Given the description of an element on the screen output the (x, y) to click on. 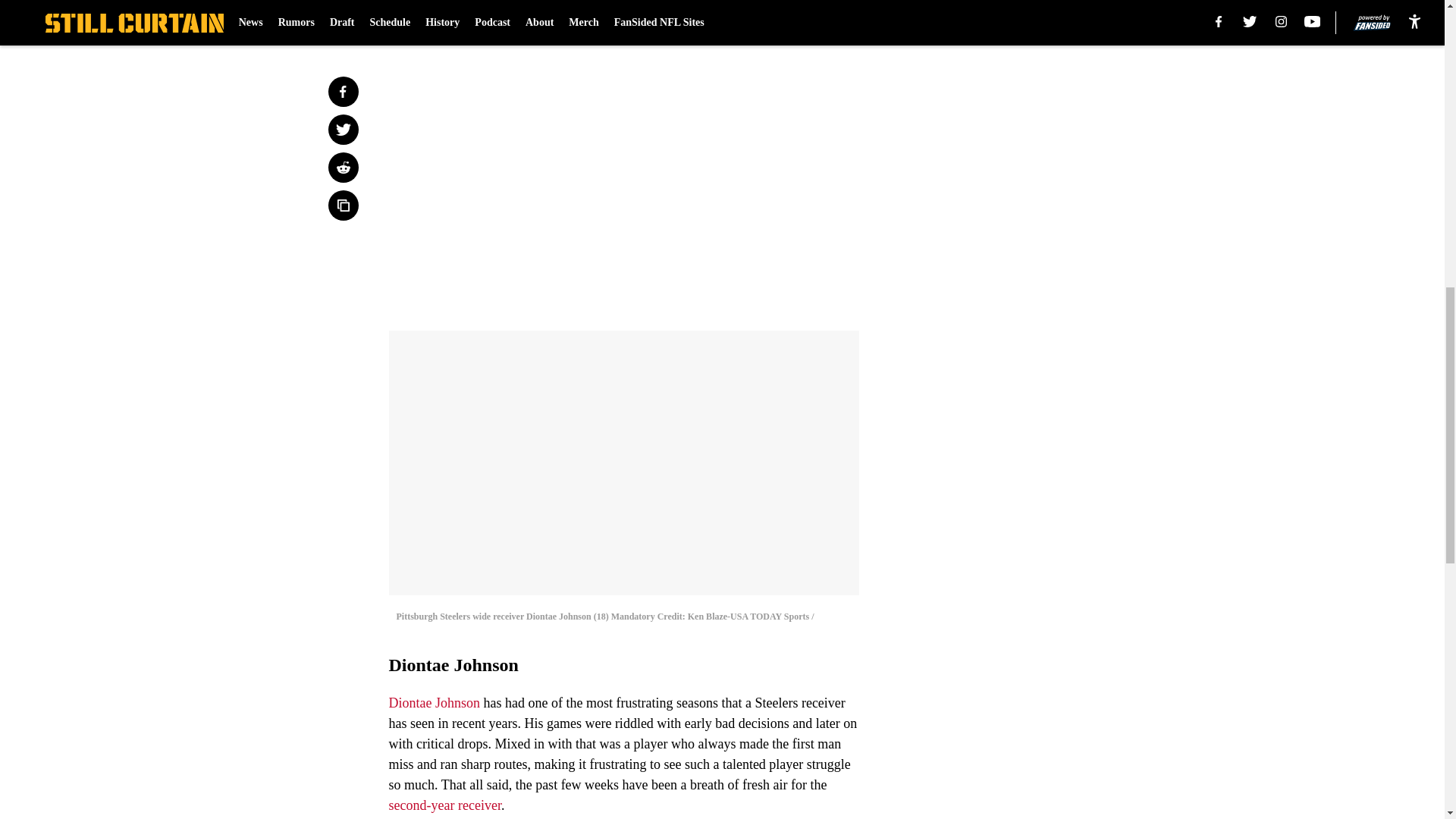
Diontae Johnson (434, 702)
Next (813, 20)
second-year receiver (444, 805)
Prev (433, 20)
